Given the description of an element on the screen output the (x, y) to click on. 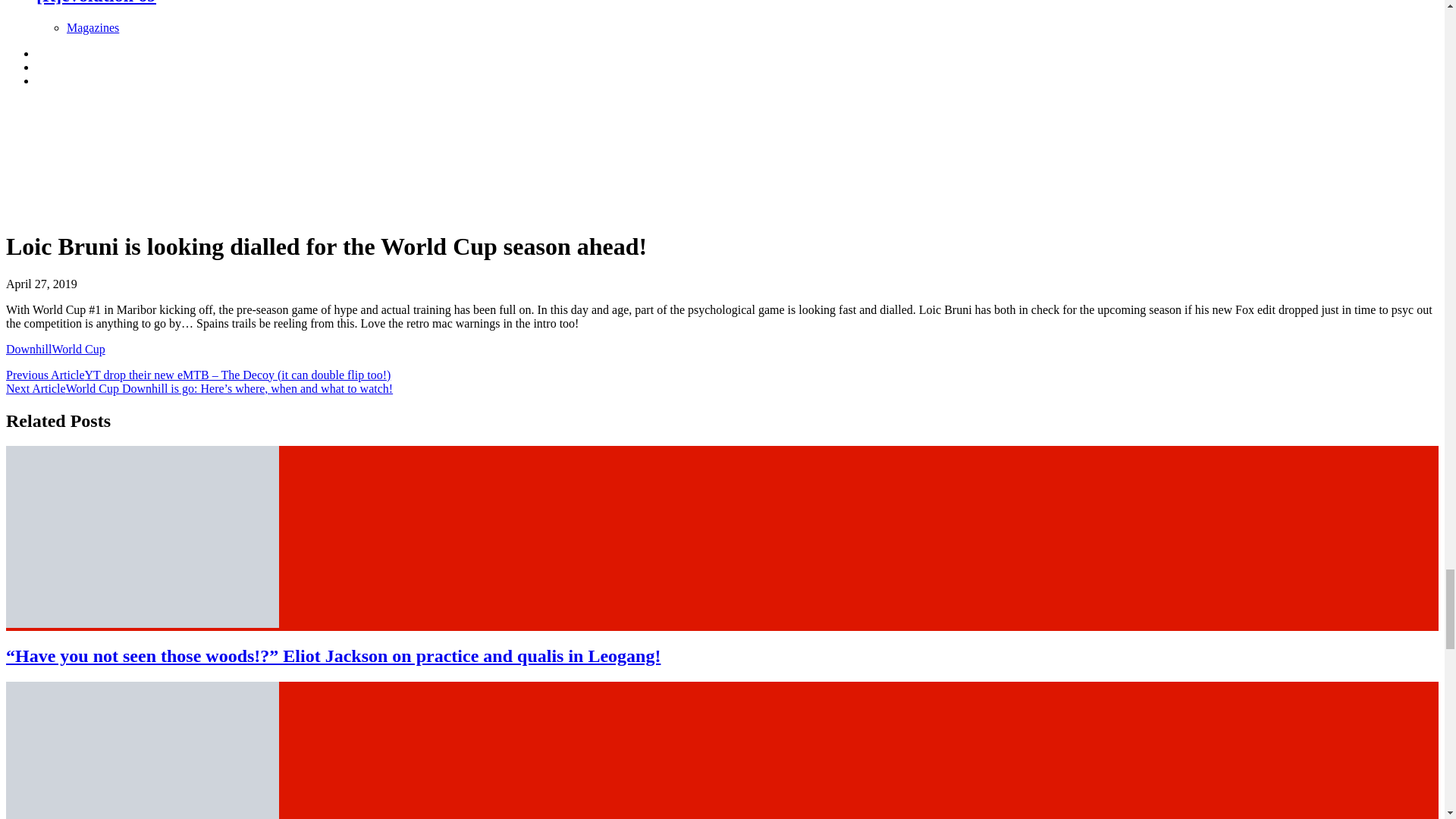
media (118, 156)
